Given the description of an element on the screen output the (x, y) to click on. 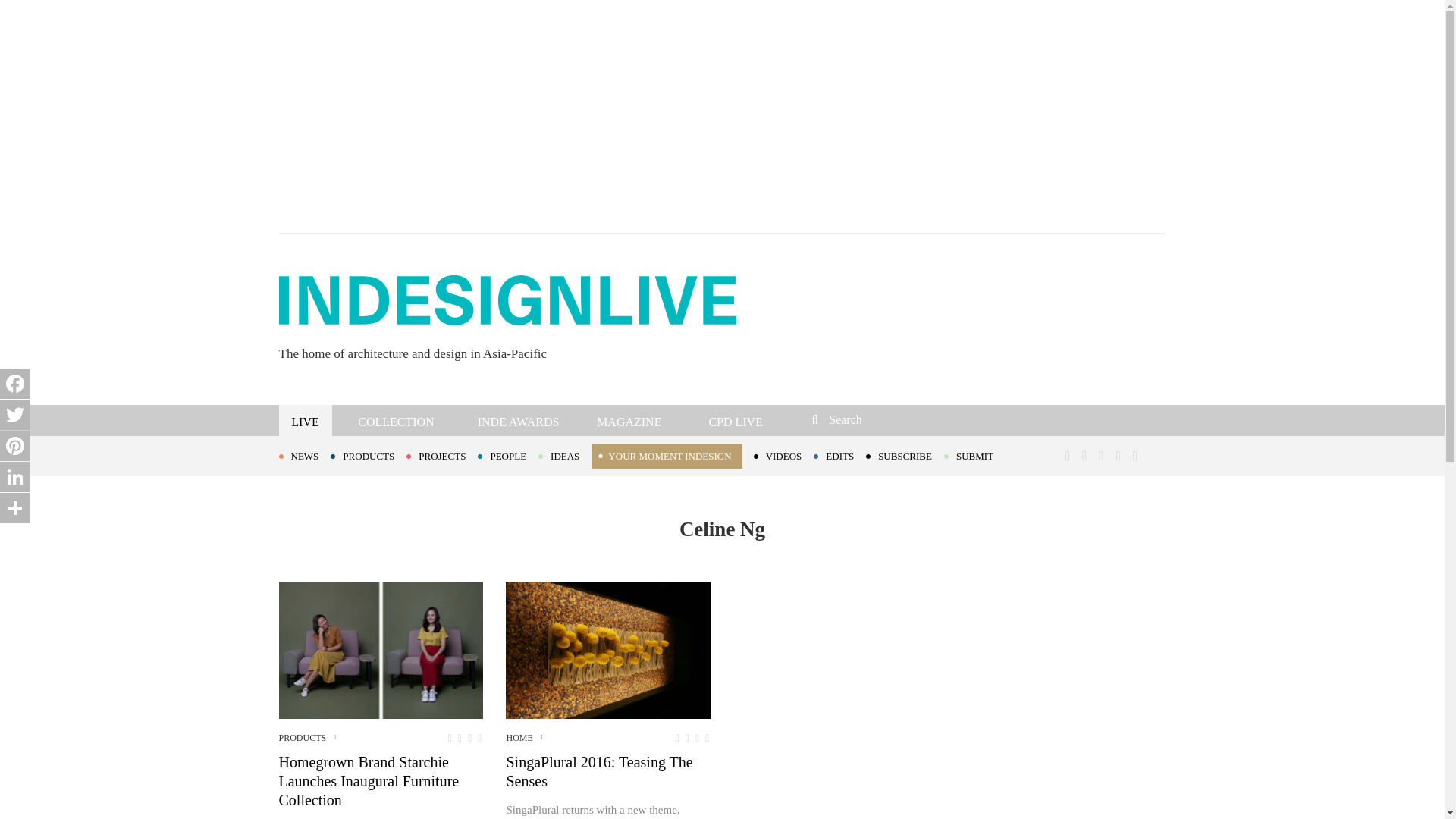
SingaPlural 2016: Teasing The Senses (607, 650)
VIDEOS (783, 455)
PEOPLE (507, 455)
LinkedIn (15, 476)
NEWS (305, 455)
YOUR MOMENT INDESIGN (666, 455)
Pinterest (15, 445)
Facebook (15, 383)
Search (913, 418)
